Given the description of an element on the screen output the (x, y) to click on. 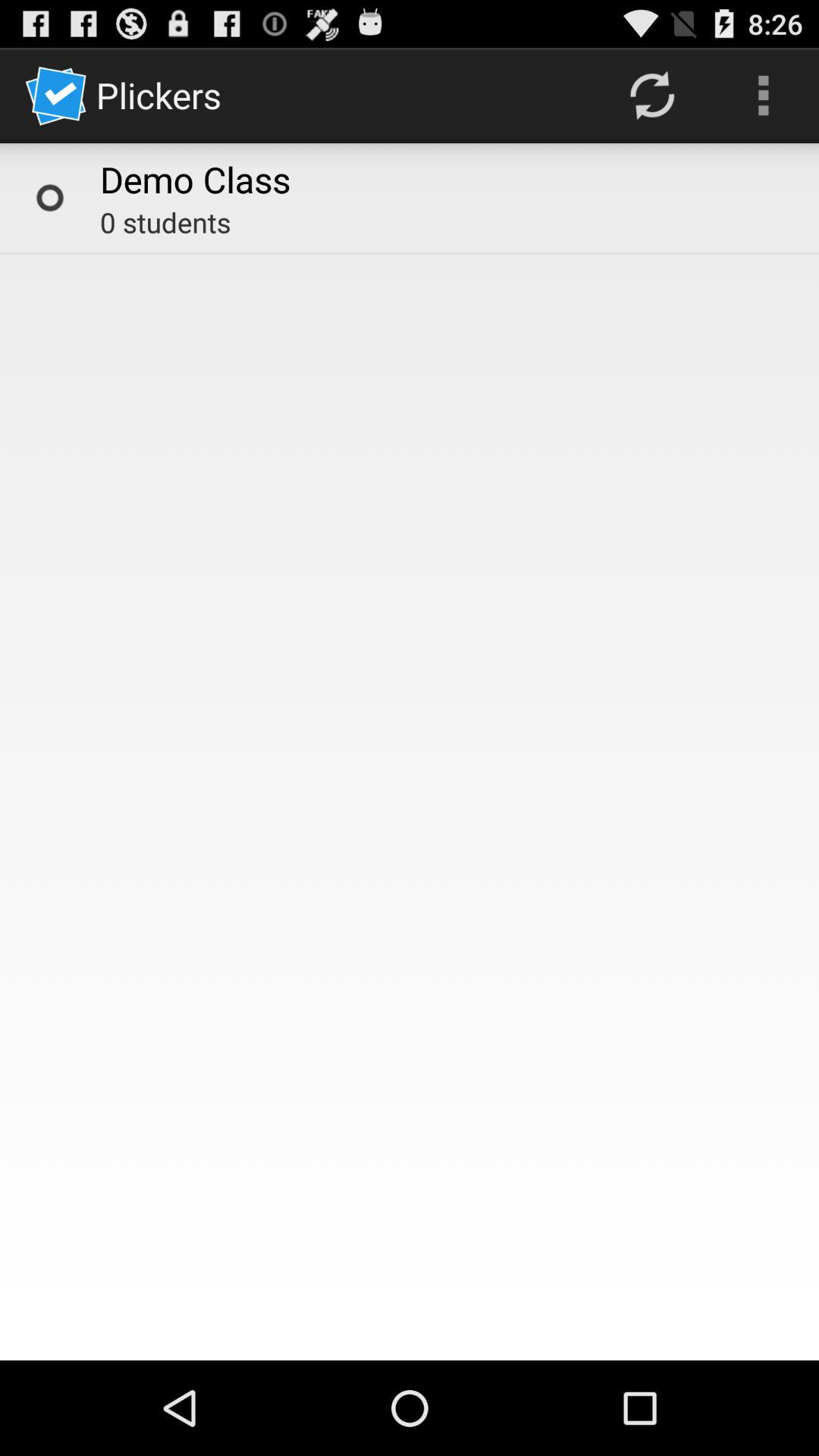
click item below the plickers icon (195, 179)
